Given the description of an element on the screen output the (x, y) to click on. 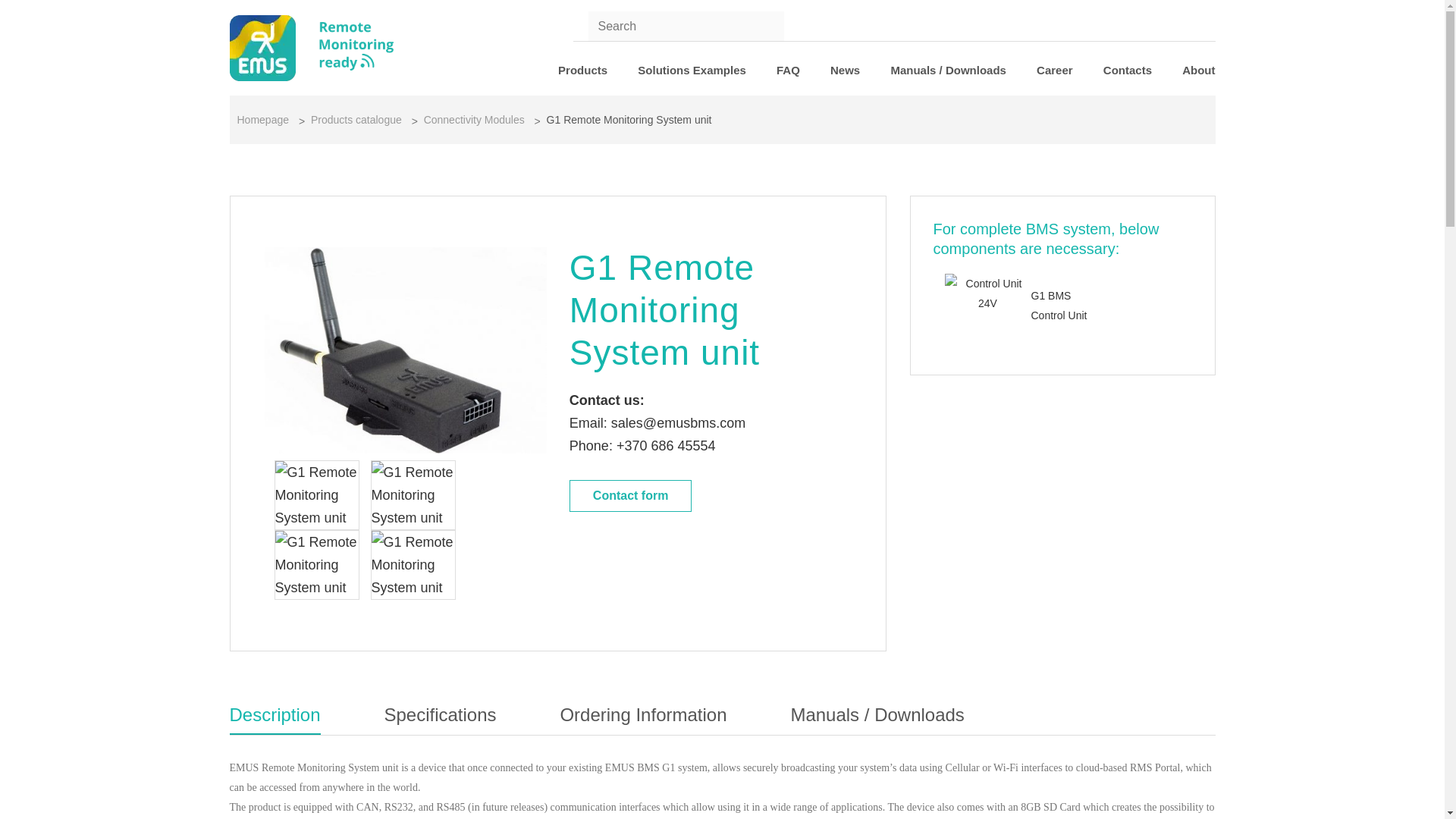
Solutions Examples (691, 69)
G1 Remote Monitoring System unit (417, 517)
U (580, 24)
Career (1054, 69)
Homepage (261, 119)
G1 Remote Monitoring System unit (413, 494)
G1 Remote Monitoring System unit (317, 564)
About (1198, 69)
Contacts (1127, 69)
G1 Remote Monitoring System unit (320, 517)
